Given the description of an element on the screen output the (x, y) to click on. 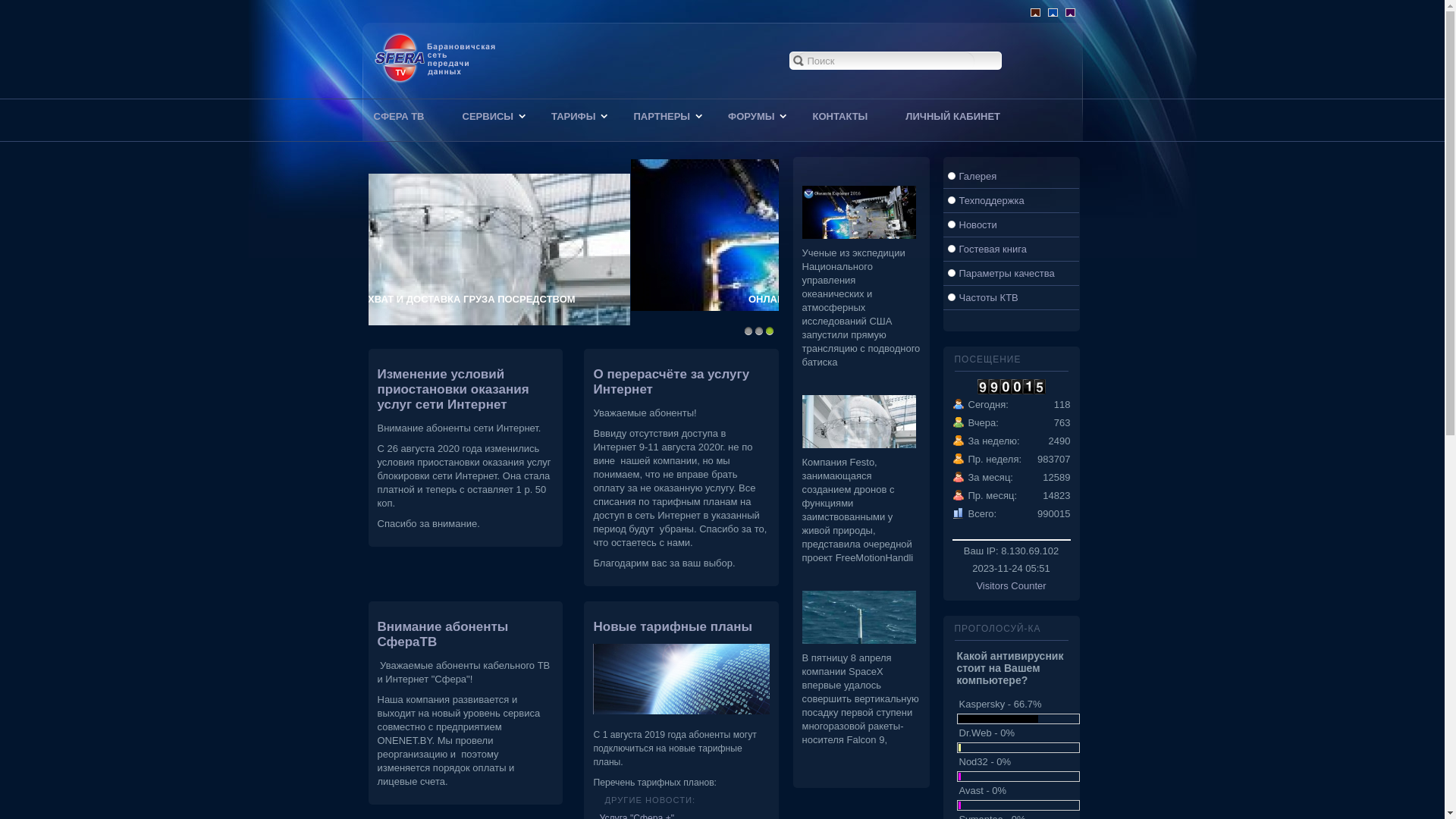
2023-11-01 Element type: hover (958, 479)
2023-10-01 Element type: hover (958, 498)
2023-11-24 Element type: hover (958, 407)
2023-11-23 Element type: hover (958, 425)
2 Element type: text (757, 330)
Visitors Counter Element type: text (1010, 585)
3 Element type: text (768, 330)
2023-11-20 Element type: hover (958, 443)
2023-11-13 Element type: hover (958, 461)
1 Element type: text (747, 330)
